Given the description of an element on the screen output the (x, y) to click on. 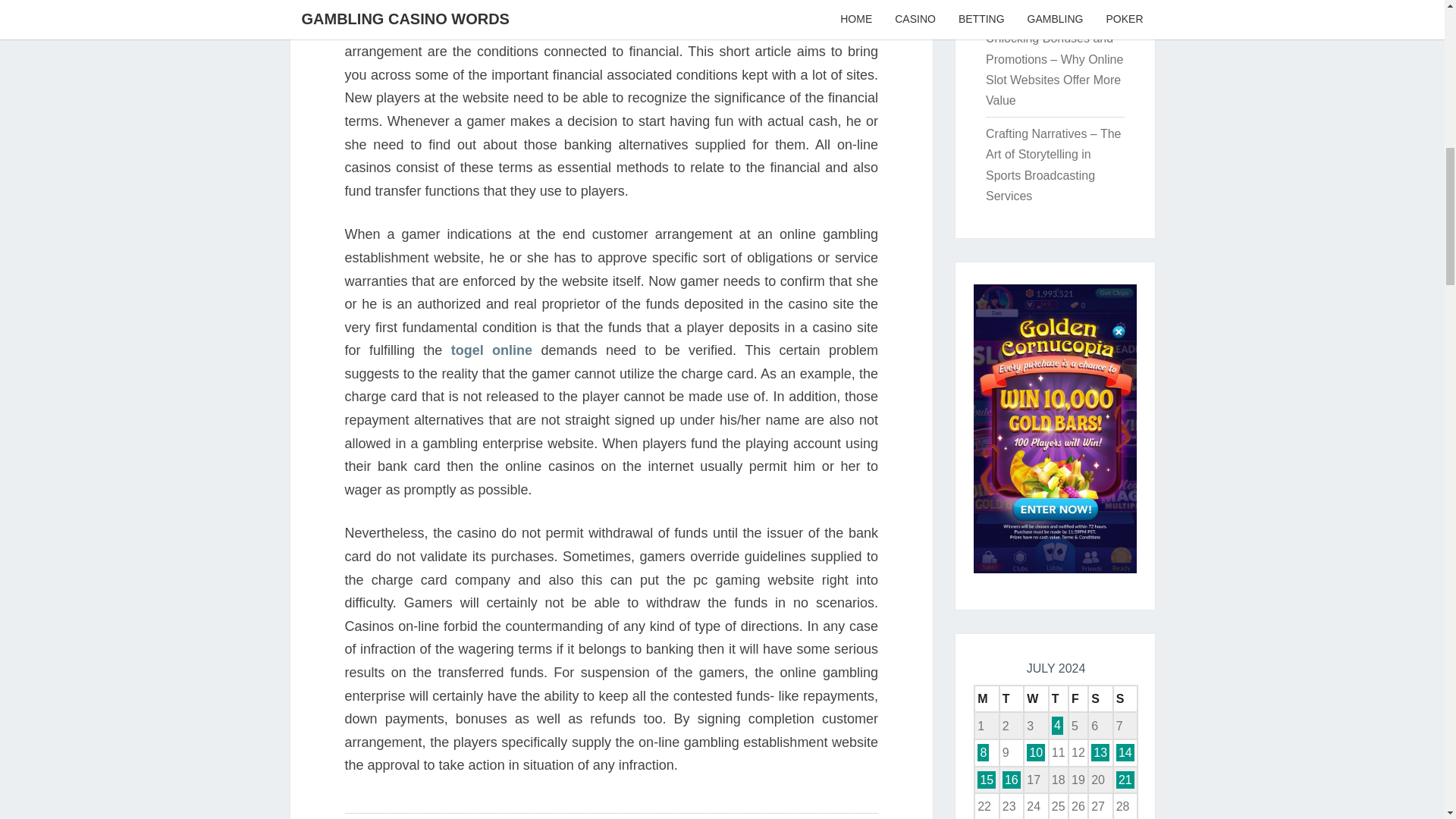
13 (1099, 752)
10 (1035, 752)
Friday (1077, 698)
Thursday (1058, 698)
Wednesday (1035, 698)
Sunday (1125, 698)
21 (1125, 779)
Tuesday (1011, 698)
8 (982, 752)
togel online (491, 350)
Saturday (1100, 698)
4 (1056, 724)
Master the Art of Online Slot Play with These Insider Tips (1049, 5)
15 (985, 779)
16 (1011, 779)
